Given the description of an element on the screen output the (x, y) to click on. 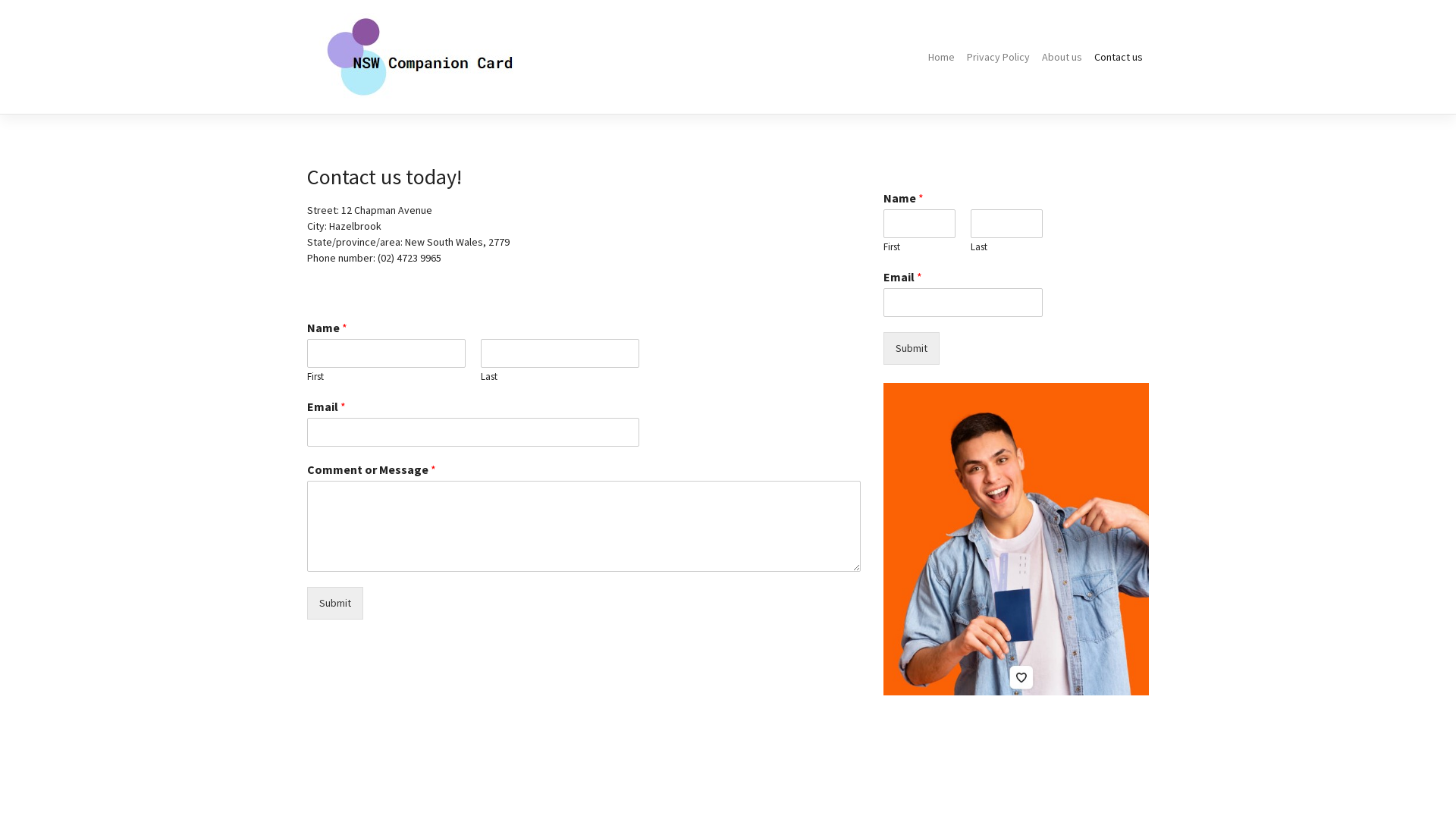
Privacy Policy Element type: text (997, 57)
About us Element type: text (1061, 57)
Contact us Element type: text (1118, 57)
Submit Element type: text (911, 348)
Home Element type: text (941, 57)
Submit Element type: text (335, 602)
